Given the description of an element on the screen output the (x, y) to click on. 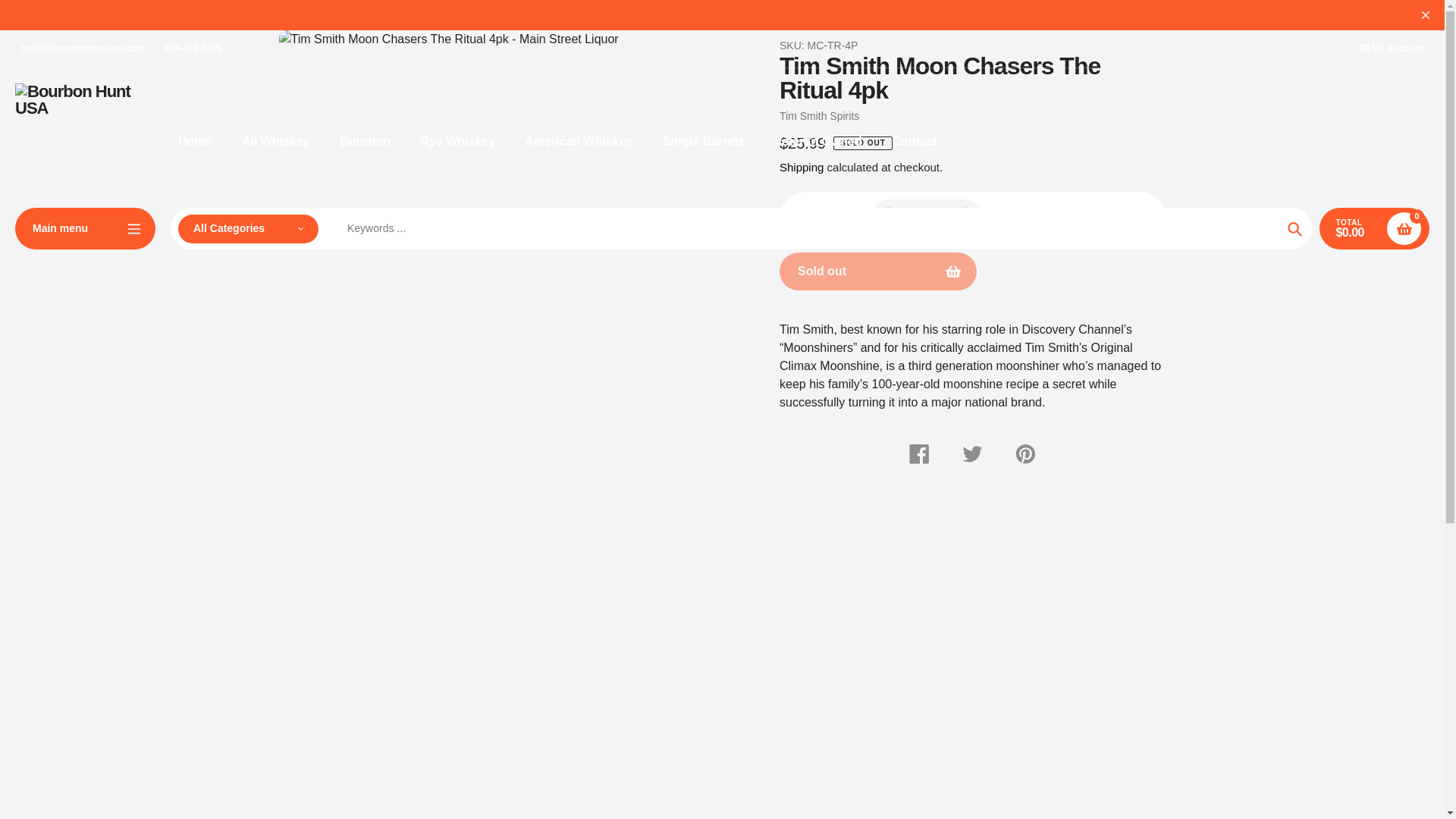
Bourbon (364, 141)
All Whiskey (275, 141)
Veteran Owned (817, 141)
American Whiskey (577, 141)
1 (927, 217)
Contact (914, 141)
All Categories (247, 228)
Home (194, 141)
Main menu (84, 228)
My Account (1391, 48)
